Given the description of an element on the screen output the (x, y) to click on. 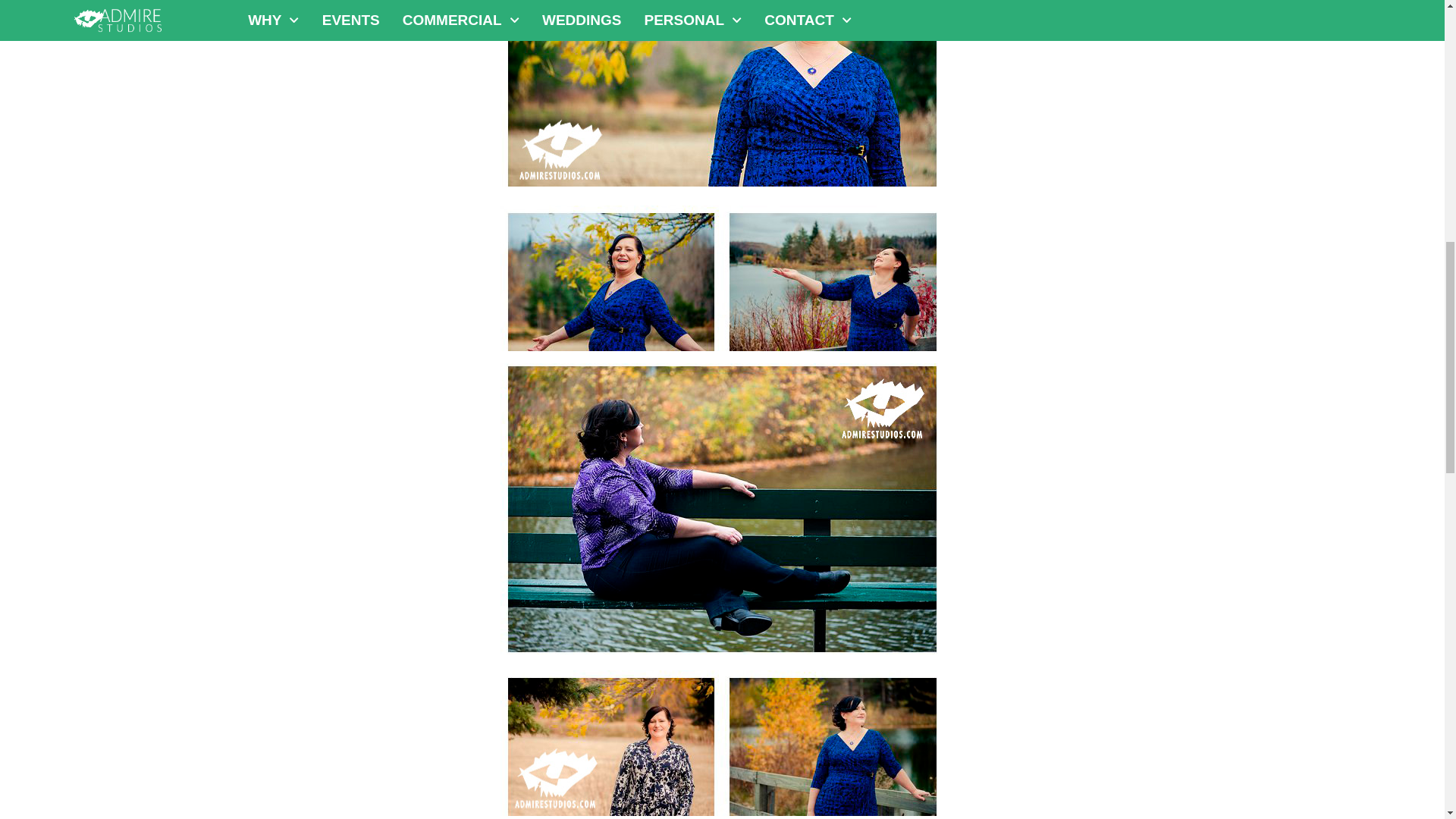
edmonton portrait photographer (721, 97)
portrait photographer (721, 744)
